Given the description of an element on the screen output the (x, y) to click on. 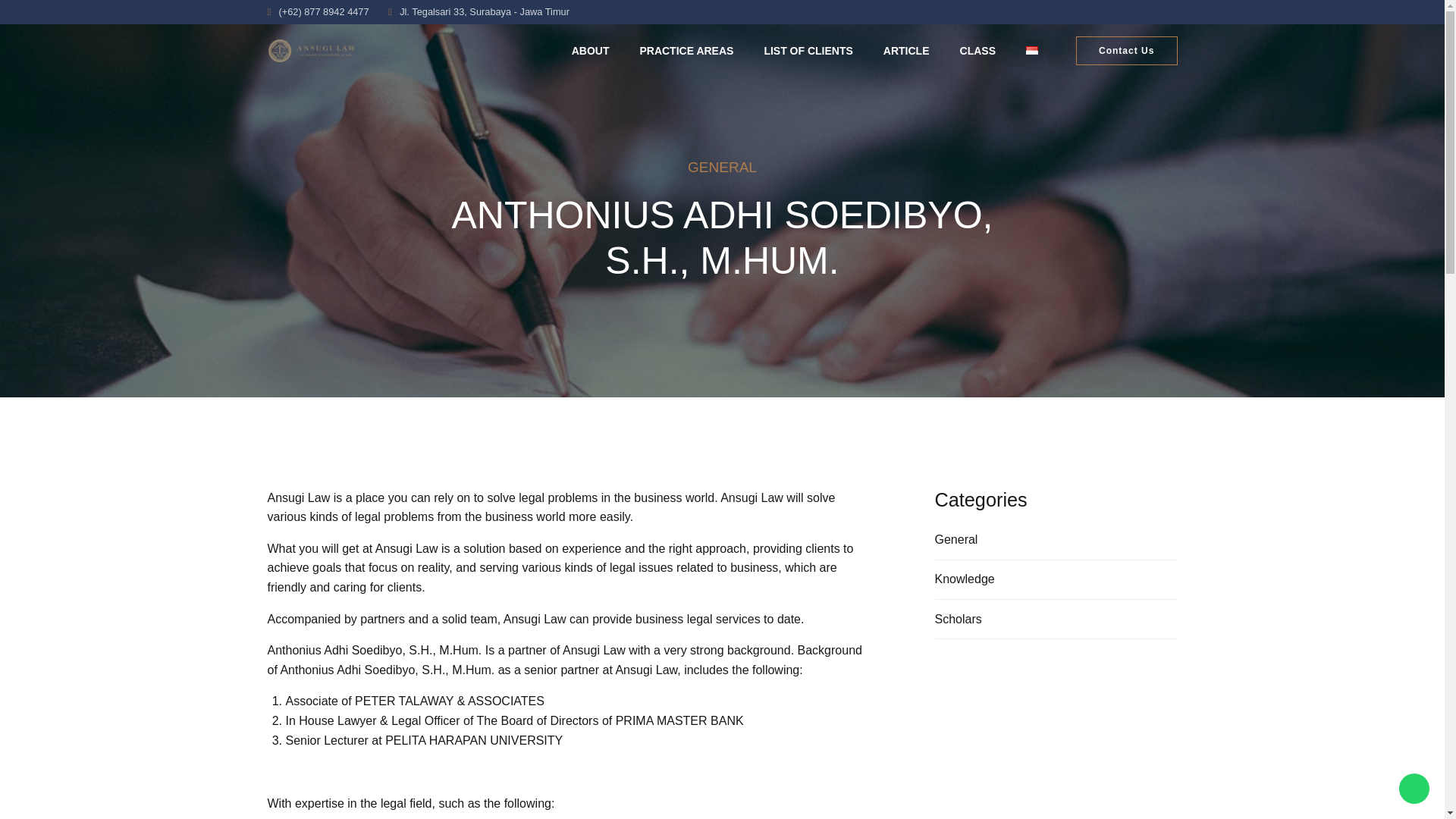
PRACTICE AREAS (686, 50)
Contact Us (1126, 51)
Knowledge (964, 578)
GENERAL (722, 166)
Chat with us via Whatsapp (1414, 788)
General (955, 539)
Bahasa Indonesia (1032, 49)
LIST OF CLIENTS (806, 50)
Scholars (957, 619)
